Given the description of an element on the screen output the (x, y) to click on. 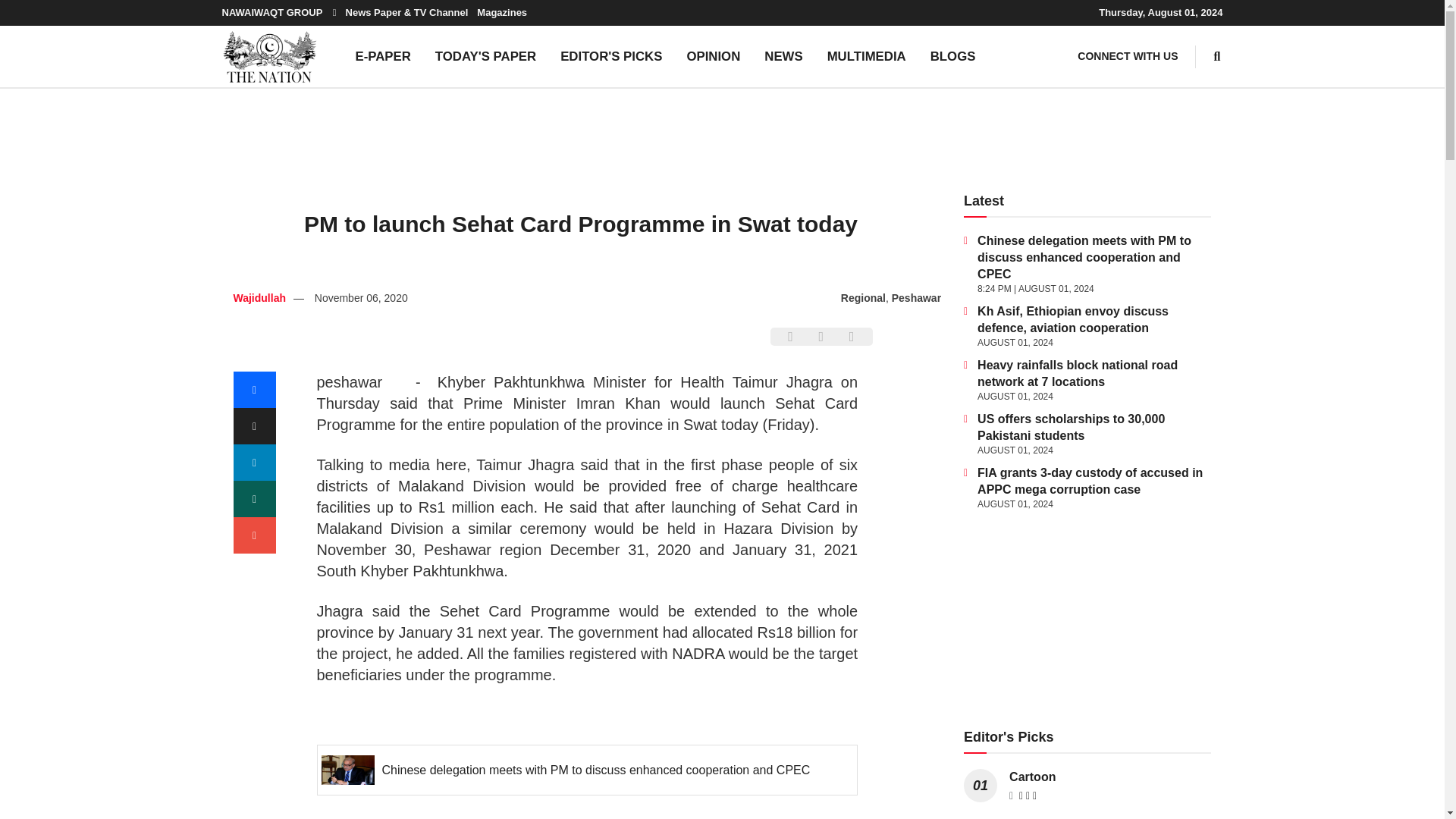
Magazines (502, 12)
BLOGS (953, 55)
EDITOR'S PICKS (611, 55)
TODAY'S PAPER (485, 55)
OPINION (713, 55)
E-PAPER (382, 55)
MULTIMEDIA (866, 55)
NEWS (782, 55)
